Given the description of an element on the screen output the (x, y) to click on. 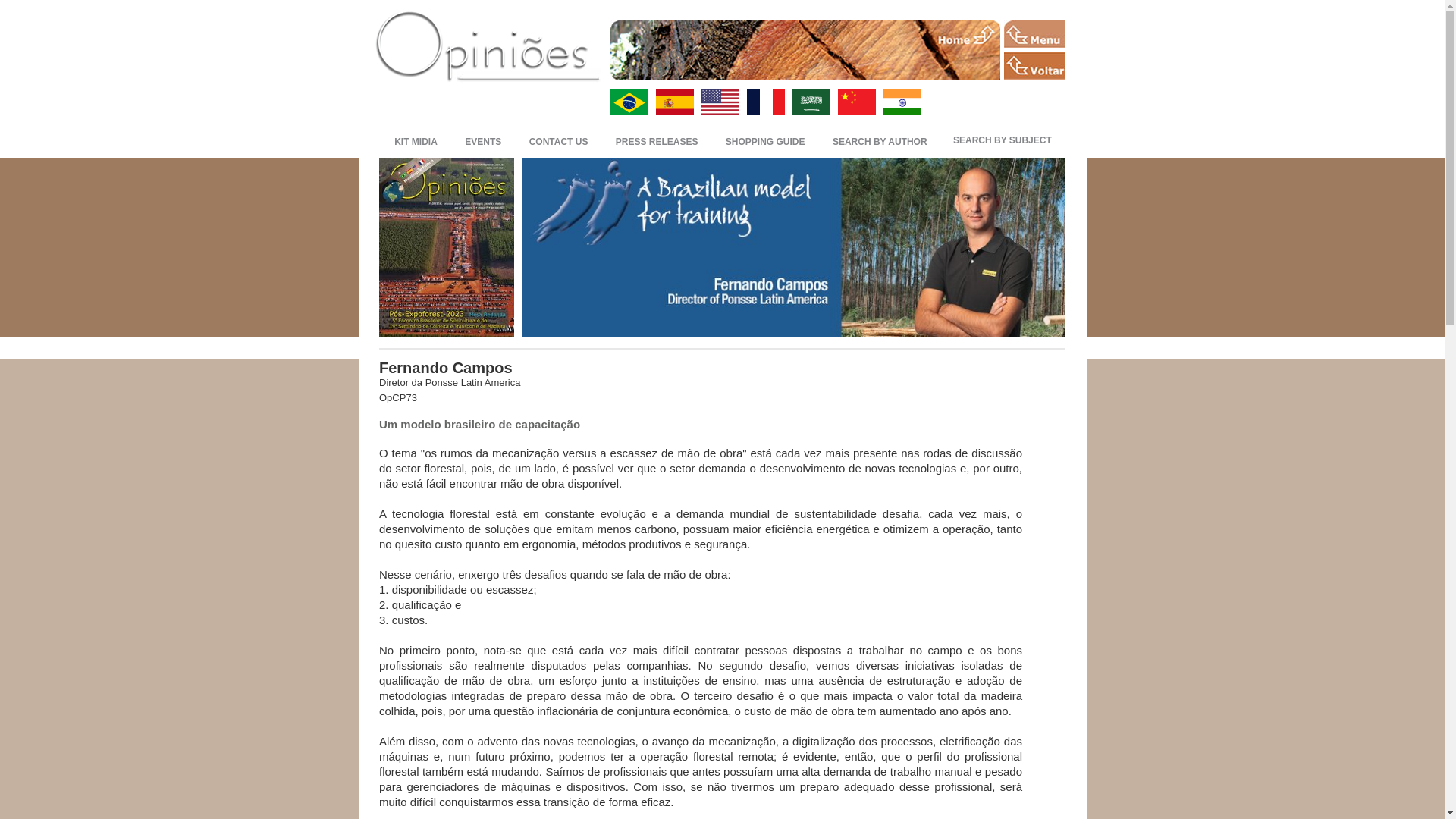
ES (674, 102)
ZH-CN (856, 102)
SHOPPING GUIDE (764, 140)
EVENTS (483, 140)
Fernando Campos (445, 367)
EN (719, 102)
KIT MIDIA (415, 140)
SEARCH BY AUTHOR (879, 140)
PT-BR (628, 102)
FR (764, 102)
AR (810, 102)
ZH-CN (856, 102)
VOLTAR (1034, 65)
ES (674, 102)
AR (810, 102)
